Given the description of an element on the screen output the (x, y) to click on. 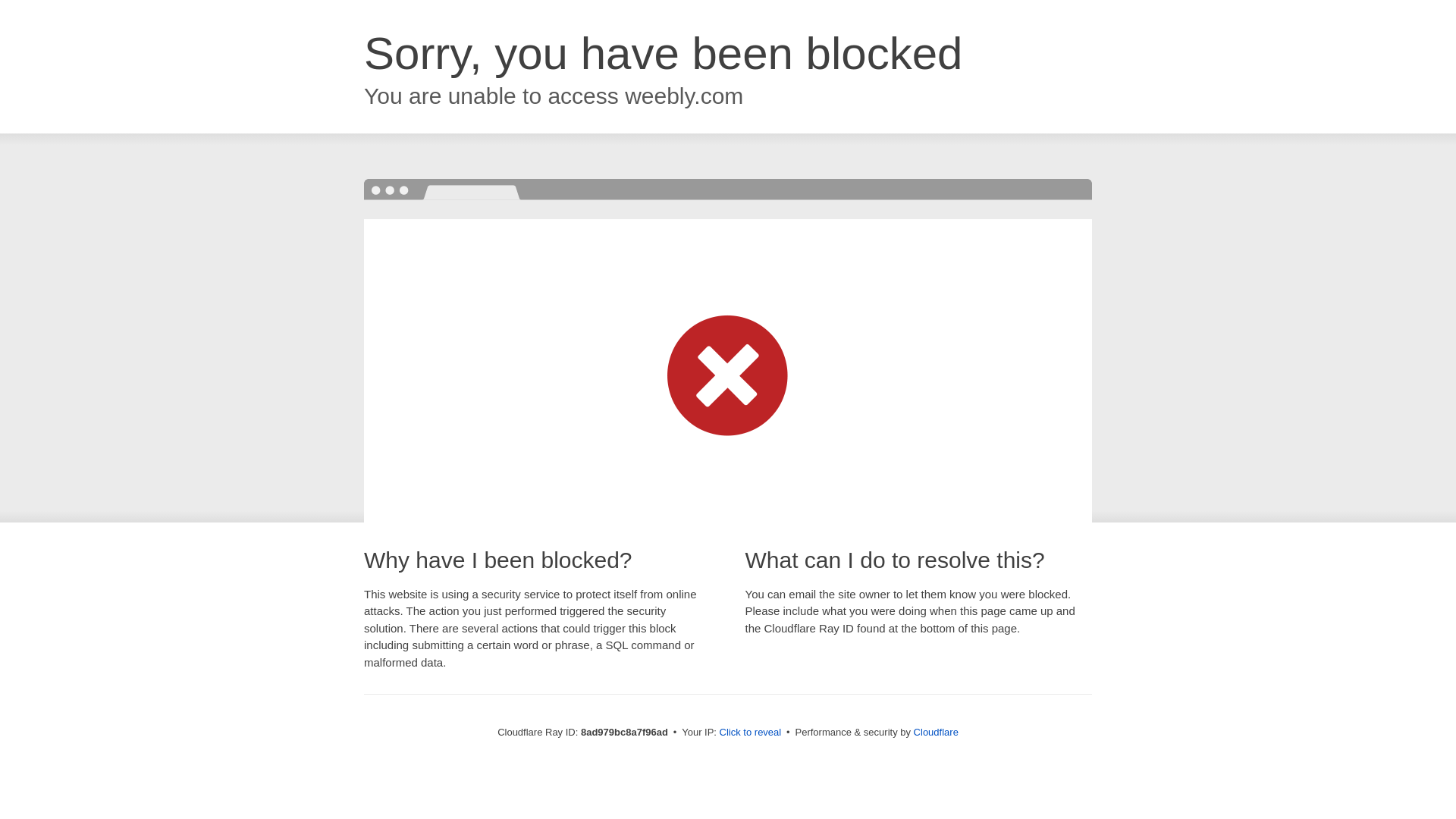
Click to reveal (750, 732)
Cloudflare (936, 731)
